Given the description of an element on the screen output the (x, y) to click on. 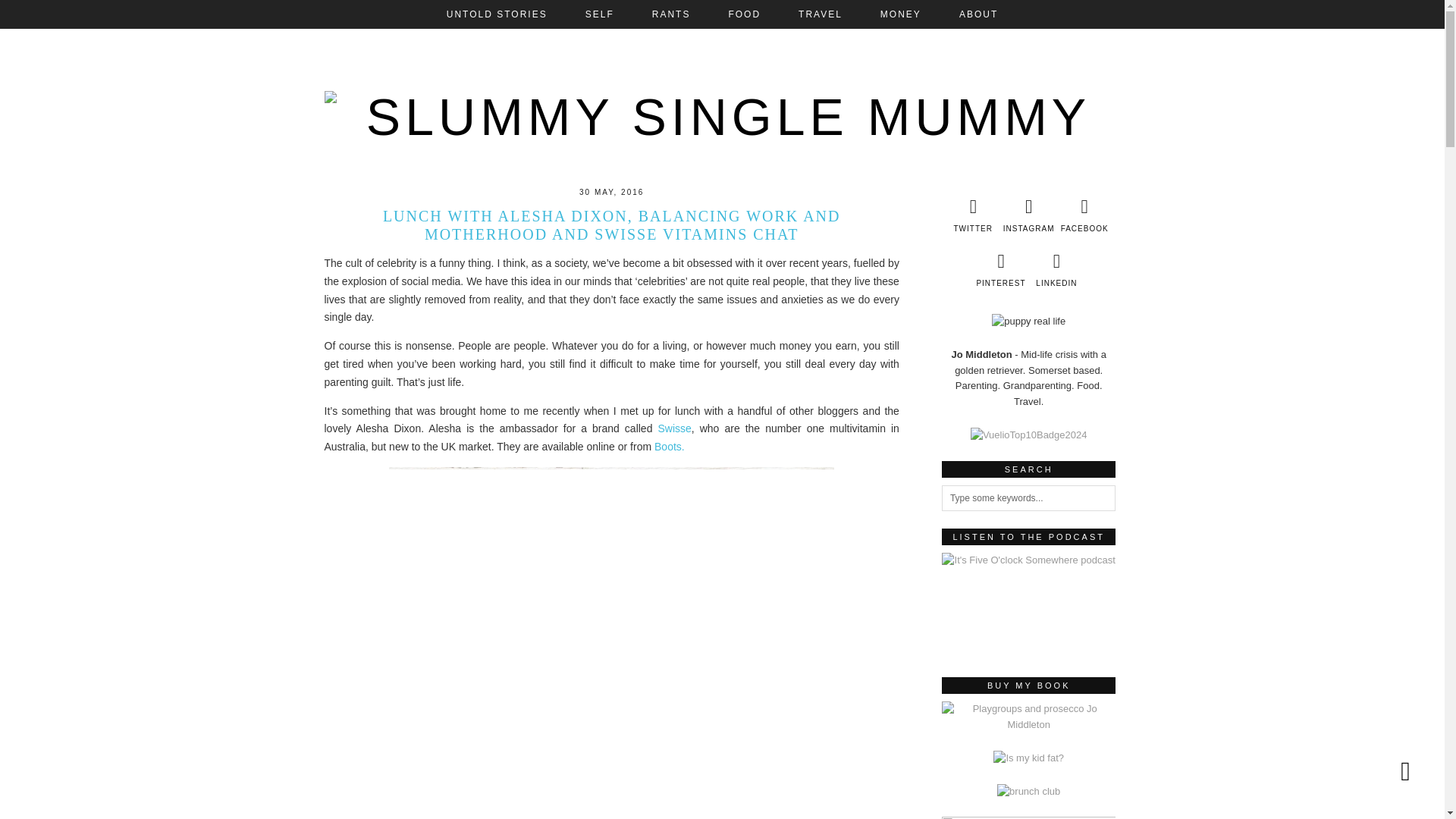
twitter (972, 215)
facebook (1084, 215)
RANTS (671, 14)
SELF (599, 14)
TRAVEL (819, 14)
pinterest (999, 269)
UNTOLD STORIES (497, 14)
INSTAGRAM (1029, 215)
FACEBOOK (1084, 215)
Listen to the podcast (1029, 603)
LINKEDIN (1056, 269)
MONEY (900, 14)
Buy my book (1029, 724)
Slummy single mummy (722, 104)
Boots. (668, 446)
